Given the description of an element on the screen output the (x, y) to click on. 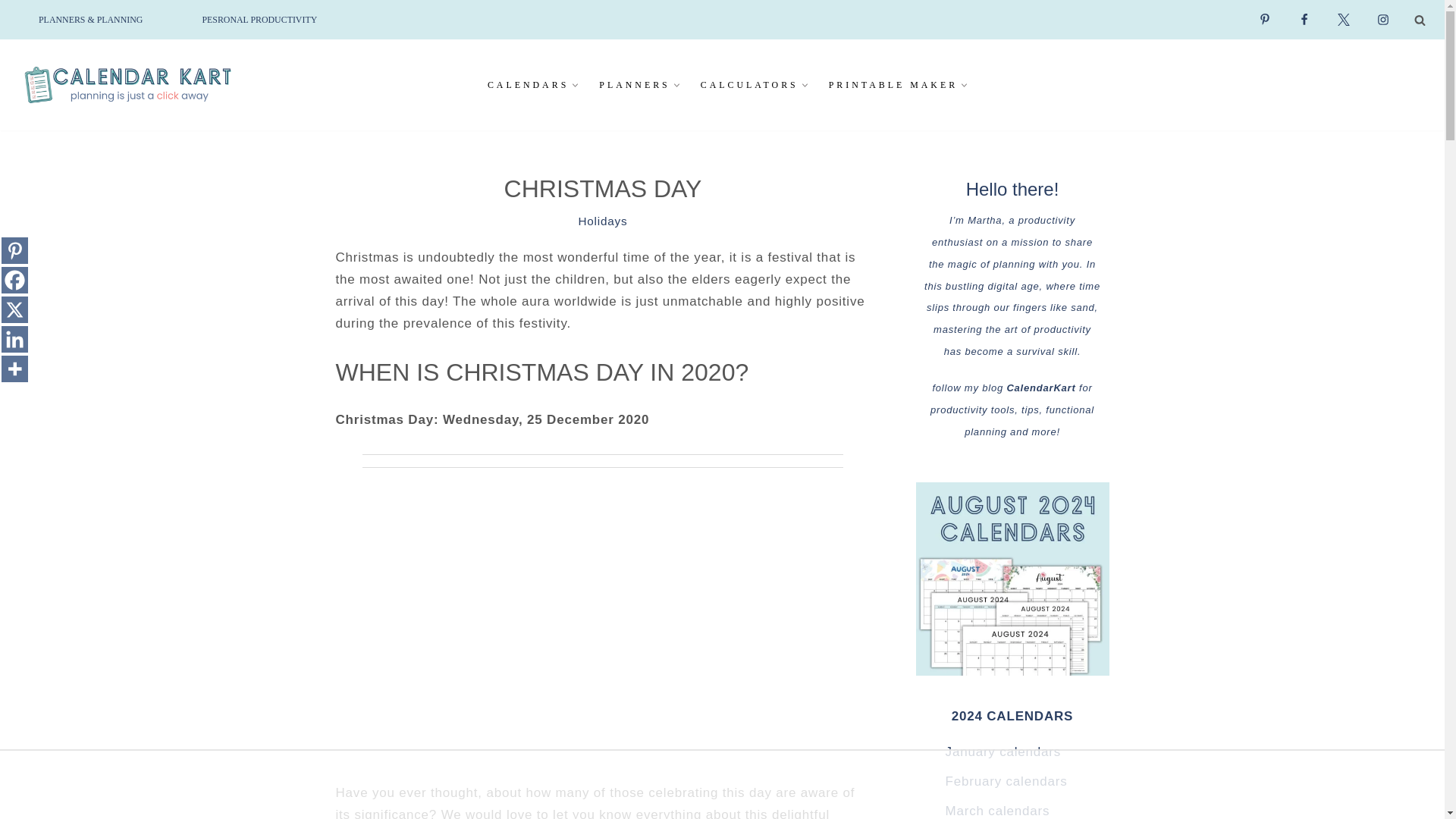
Linkedin (14, 338)
PESRONAL PRODUCTIVITY (259, 19)
Facebook (14, 279)
Skip to content (11, 31)
PRINTABLE MAKER (893, 84)
CALCULATORS (748, 84)
More (14, 368)
X (14, 309)
CALENDARS (528, 84)
Pinterest (14, 250)
